Given the description of an element on the screen output the (x, y) to click on. 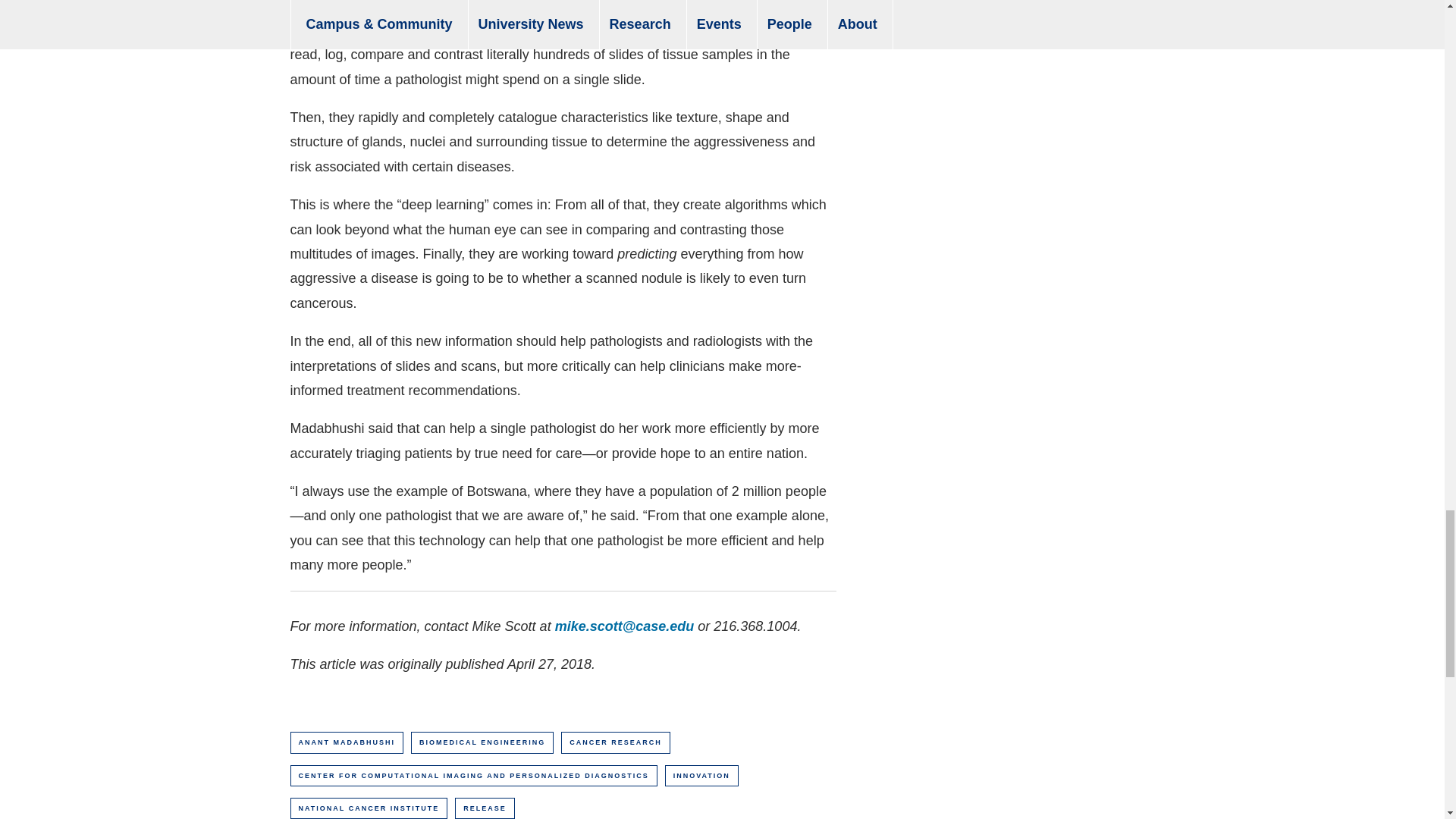
NATIONAL CANCER INSTITUTE (367, 808)
ANANT MADABHUSHI (346, 742)
RELEASE (484, 808)
CANCER RESEARCH (614, 742)
BIOMEDICAL ENGINEERING (481, 742)
INNOVATION (701, 775)
